Given the description of an element on the screen output the (x, y) to click on. 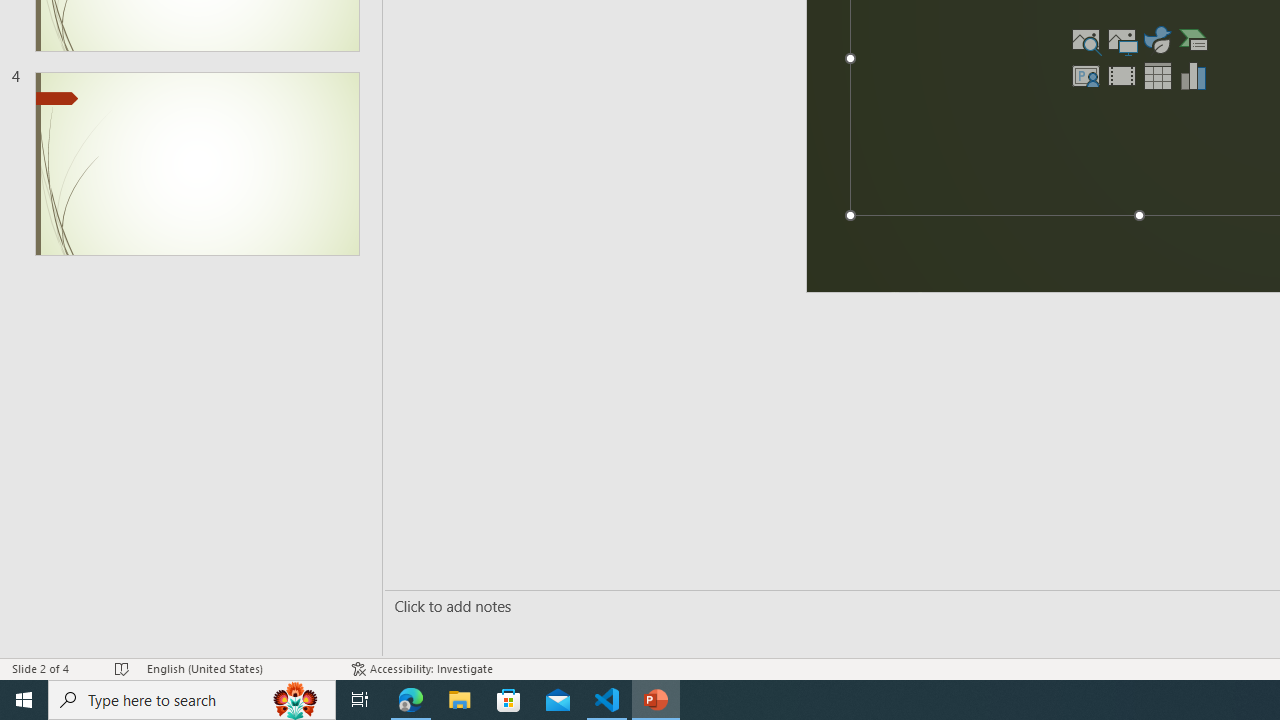
Insert Table (1157, 75)
Insert a SmartArt Graphic (1193, 39)
Insert Cameo (1086, 75)
Insert Chart (1193, 75)
Insert Video (1121, 75)
Pictures (1121, 39)
Stock Images (1086, 39)
Insert an Icon (1157, 39)
